Given the description of an element on the screen output the (x, y) to click on. 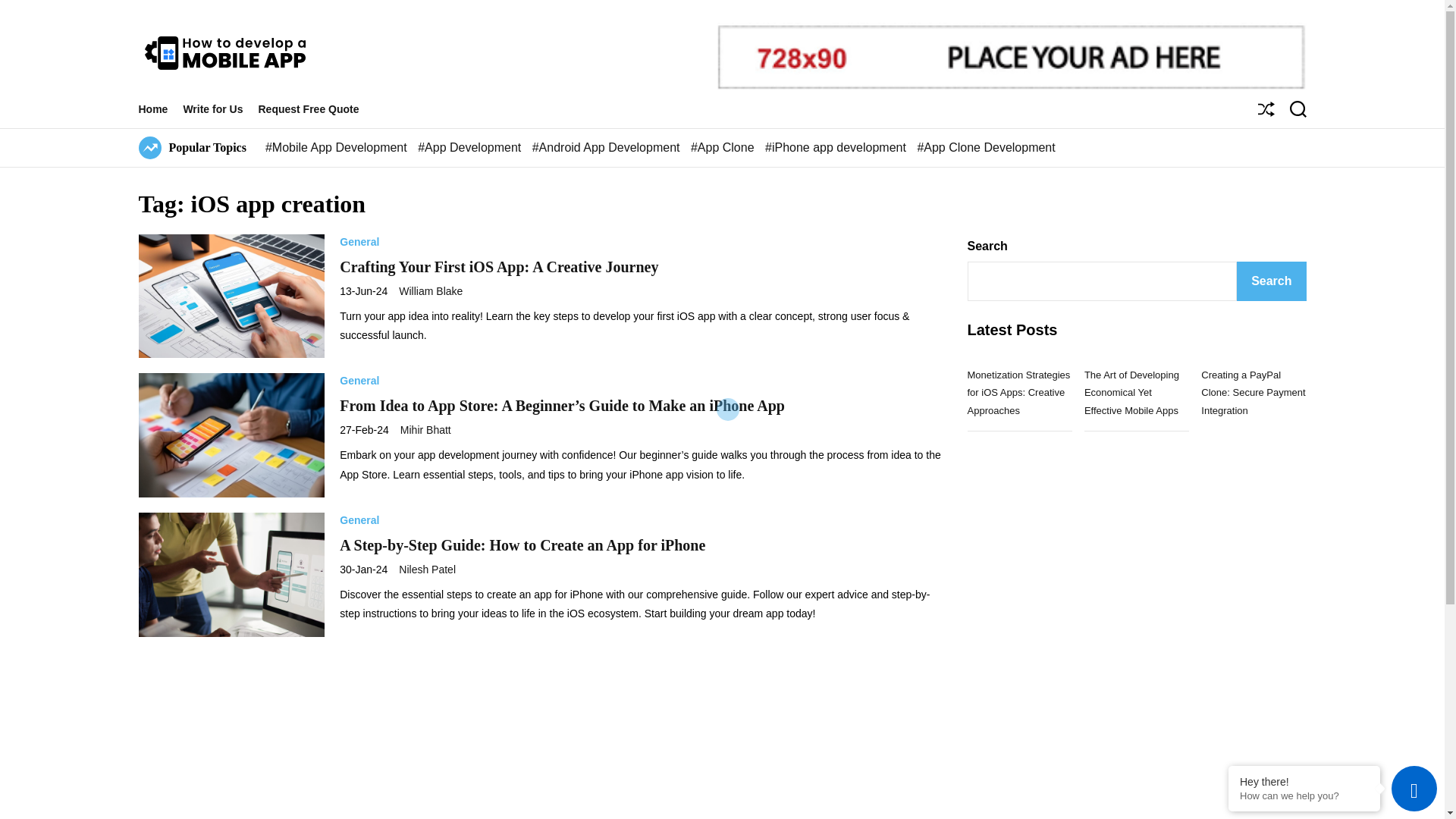
A Step-by-Step Guide: How to Create an App for iPhone (521, 545)
Request Free Quote (315, 108)
Nilesh Patel (426, 569)
General (358, 520)
General (358, 381)
Search (1271, 281)
Creating a PayPal Clone: Secure Payment Integration (1252, 392)
William Blake (430, 291)
Mihir Bhatt (425, 429)
Hey there! (1304, 781)
